Given the description of an element on the screen output the (x, y) to click on. 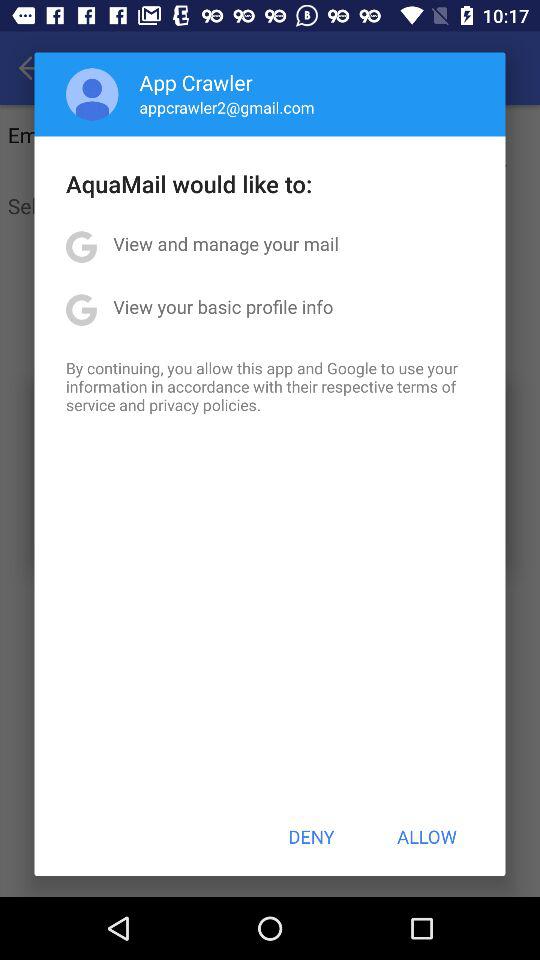
turn on appcrawler2@gmail.com (226, 107)
